Given the description of an element on the screen output the (x, y) to click on. 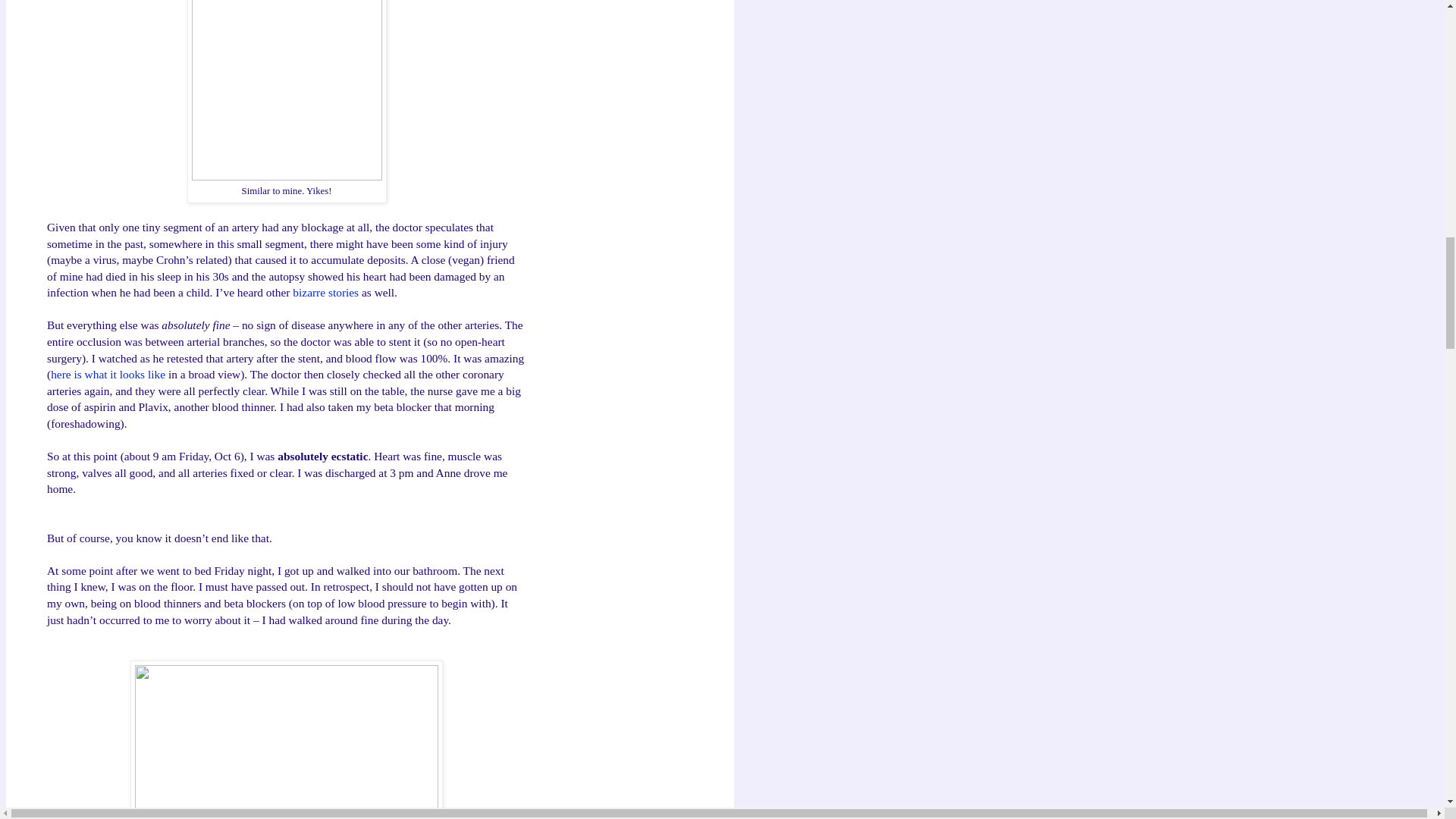
here is what it looks like (107, 373)
bizarre stories (325, 291)
